Given the description of an element on the screen output the (x, y) to click on. 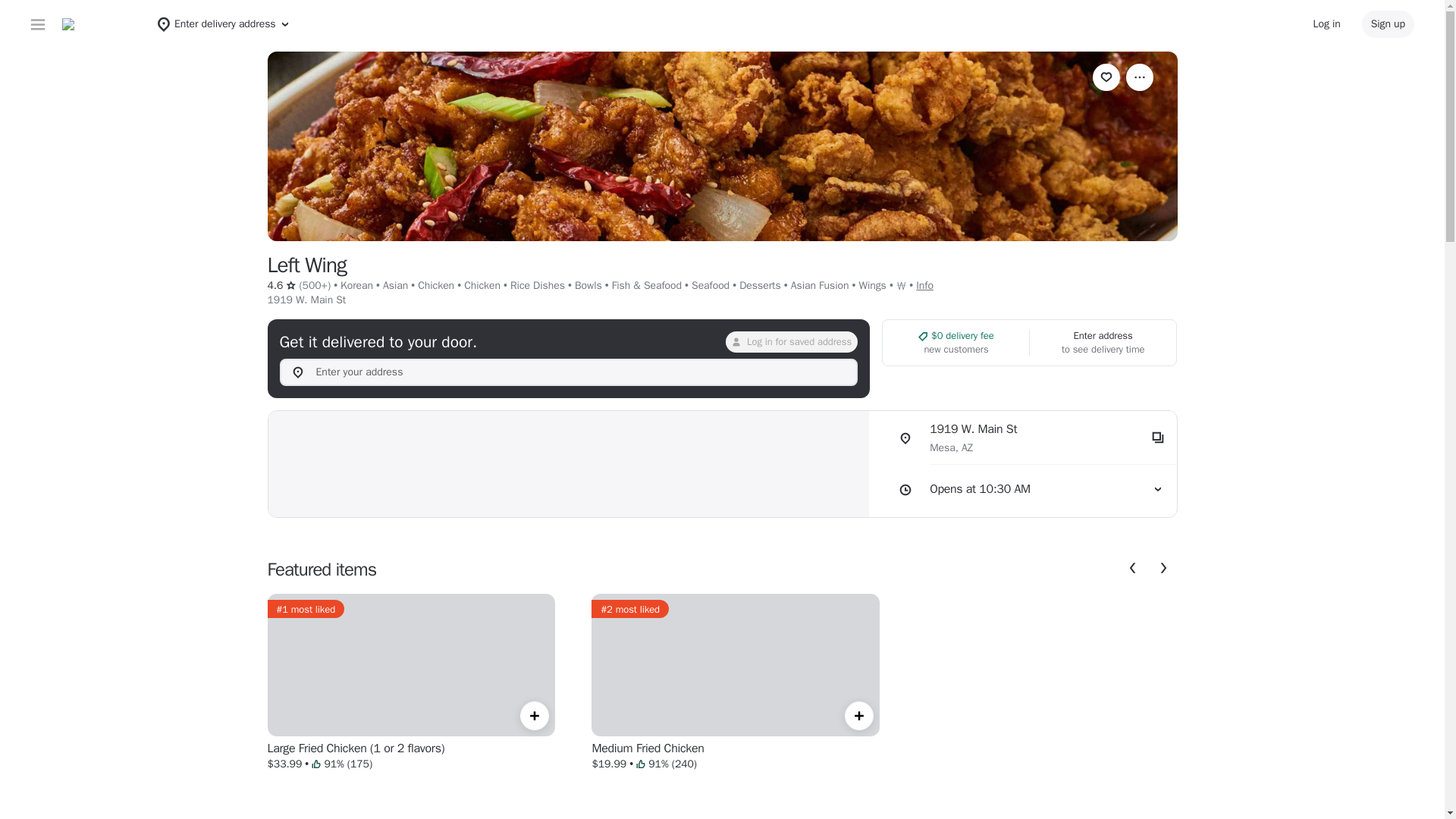
View more options (1139, 76)
Opens at 10:30 AM (1028, 489)
Log in for saved address (791, 341)
Sign up (1387, 23)
Add to favorites (1105, 76)
Info (1028, 438)
Log in (924, 285)
